Given the description of an element on the screen output the (x, y) to click on. 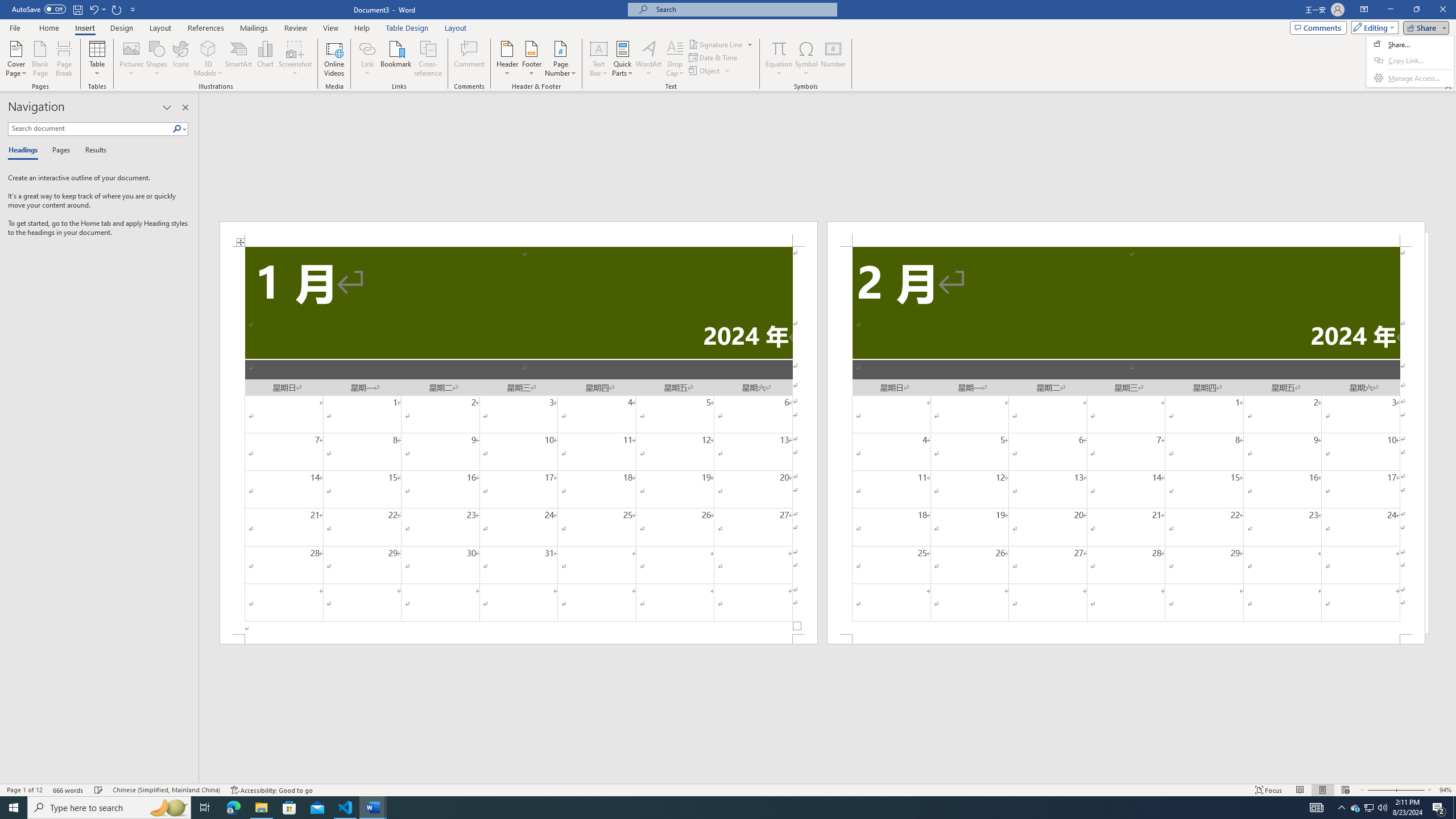
Comment (469, 58)
Chart... (265, 58)
Quick Parts (622, 58)
Page Number Page 1 of 12 (24, 790)
Object... (709, 69)
Header -Section 2- (1126, 233)
Pictures (131, 58)
